Given the description of an element on the screen output the (x, y) to click on. 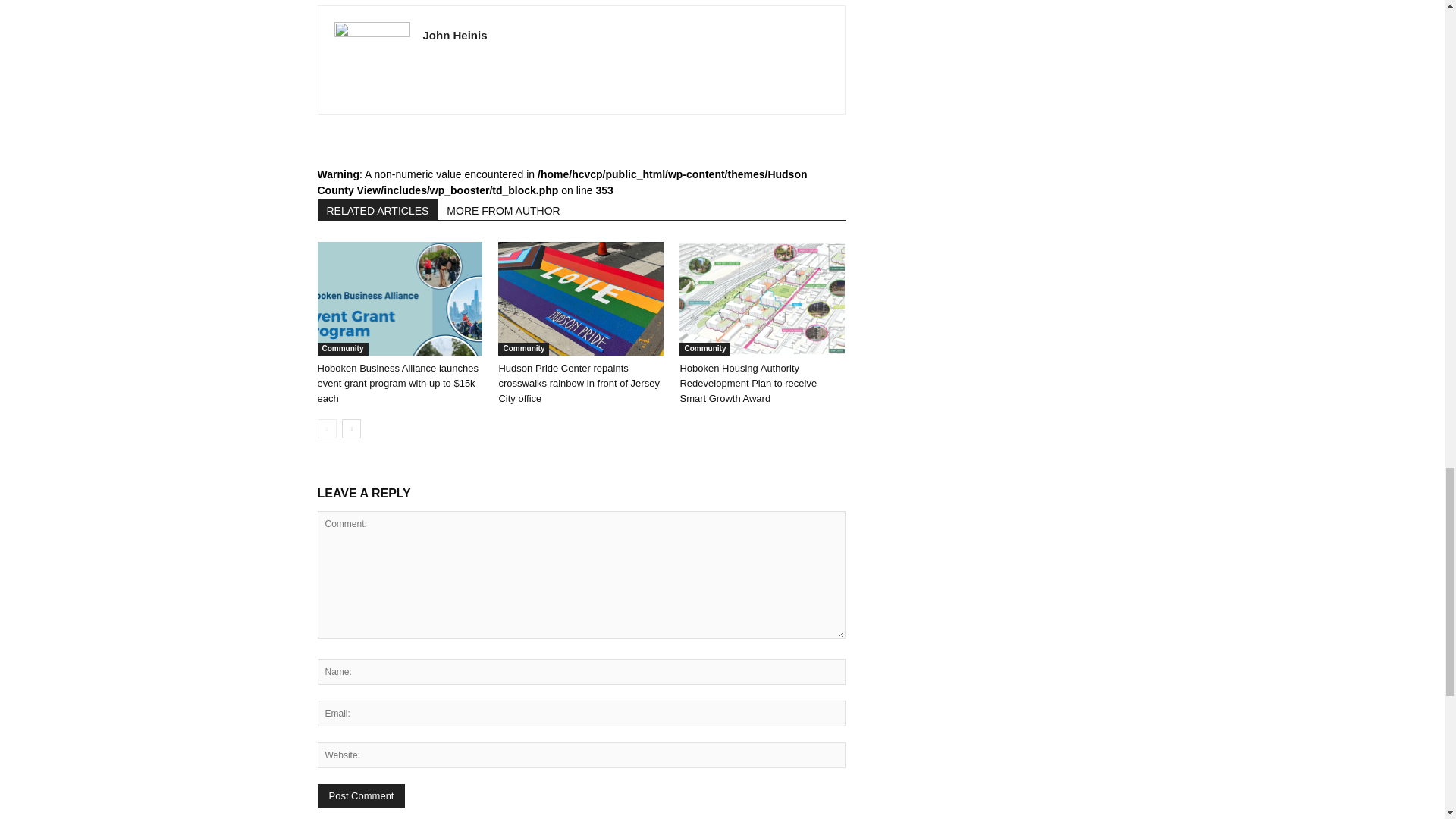
Post Comment (360, 795)
